Given the description of an element on the screen output the (x, y) to click on. 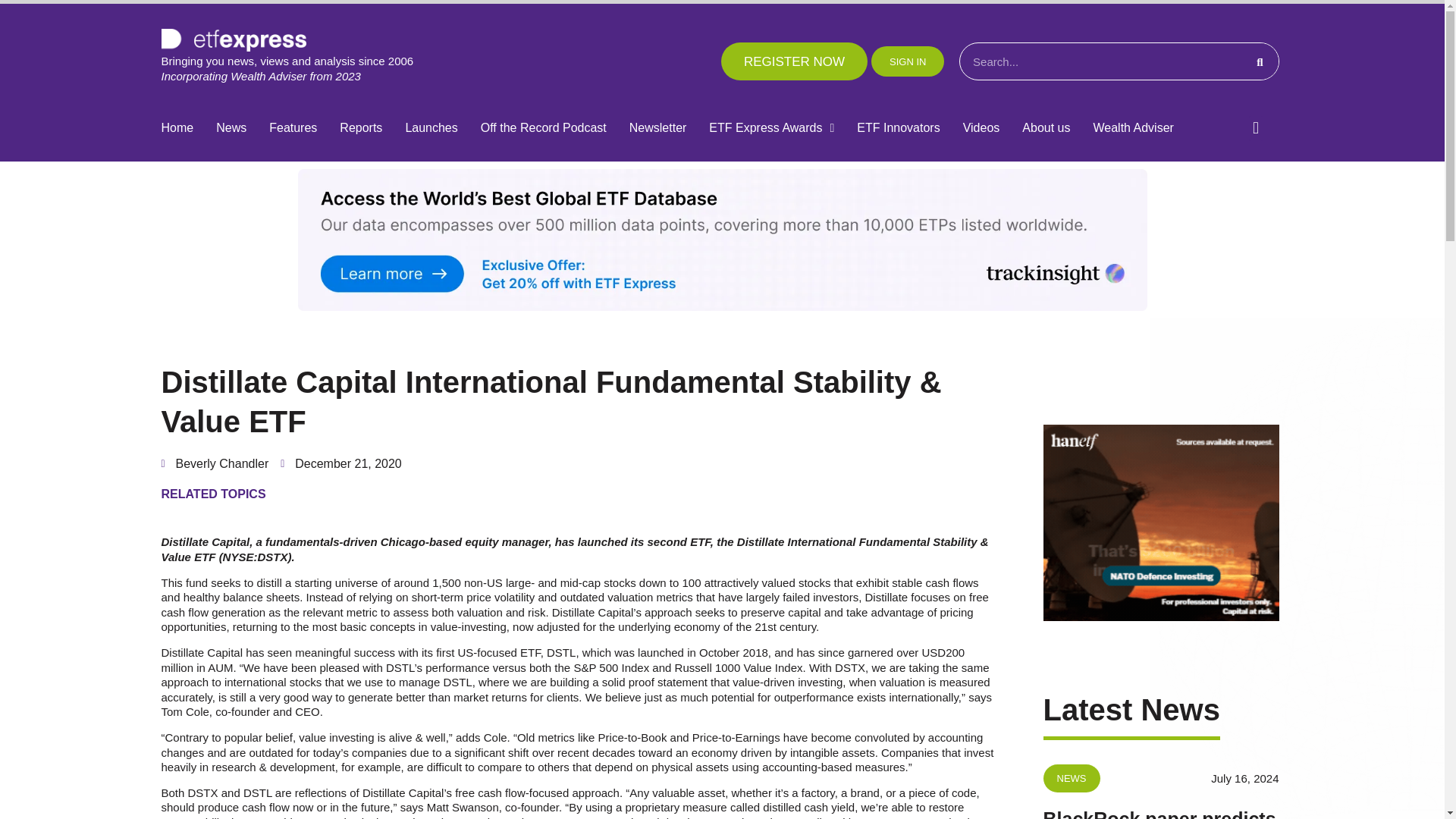
News (230, 128)
SIGN IN (906, 60)
Home (176, 128)
REGISTER NOW (793, 61)
Features (293, 128)
